Given the description of an element on the screen output the (x, y) to click on. 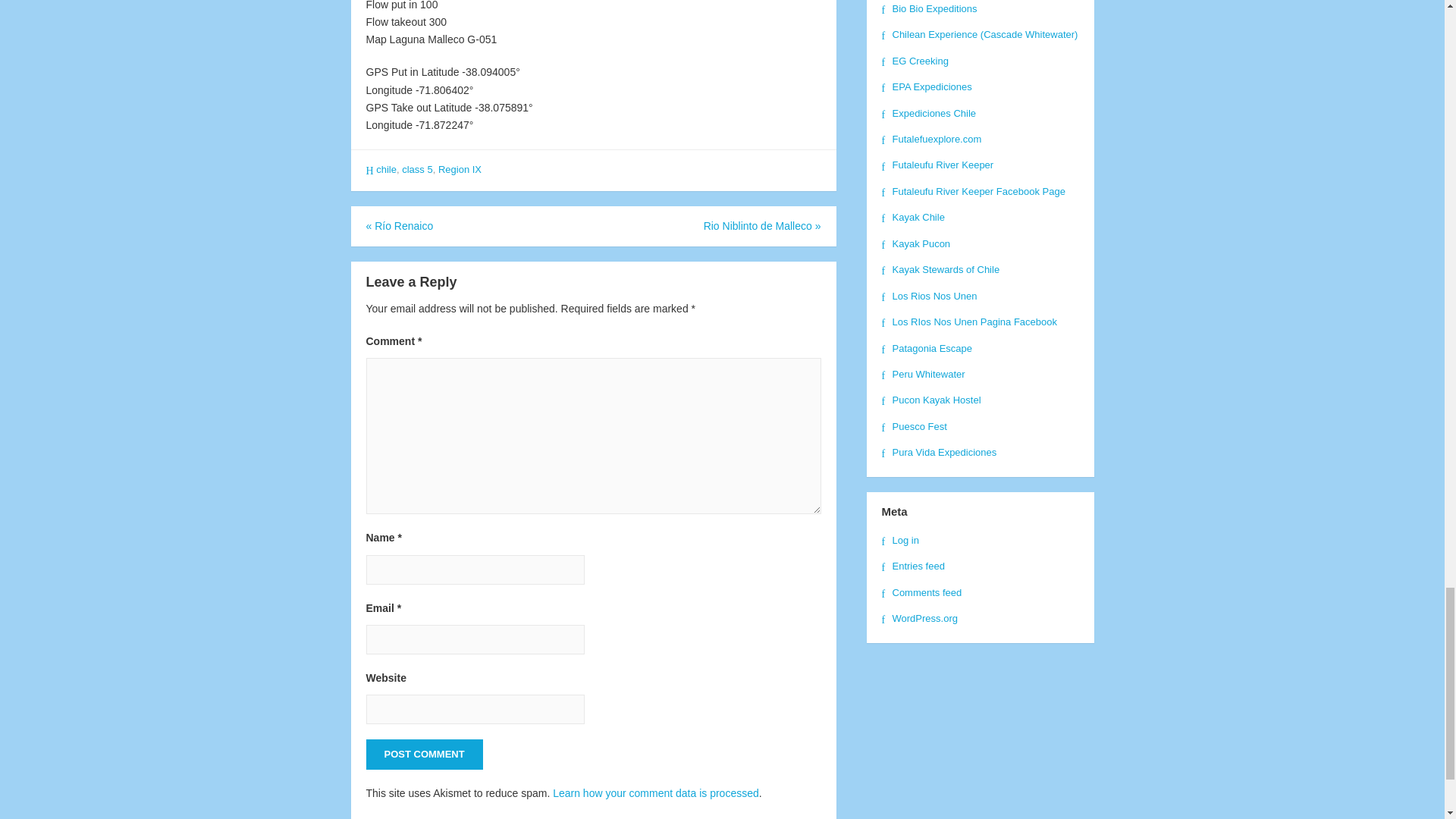
kayak pucon (915, 243)
Learn how your comment data is processed (655, 793)
whitewater kayak tours chile (911, 216)
chile (385, 169)
class 5 (416, 169)
Post Comment (423, 754)
Region IX (459, 169)
guide to whitewater in Peru (921, 374)
